Given the description of an element on the screen output the (x, y) to click on. 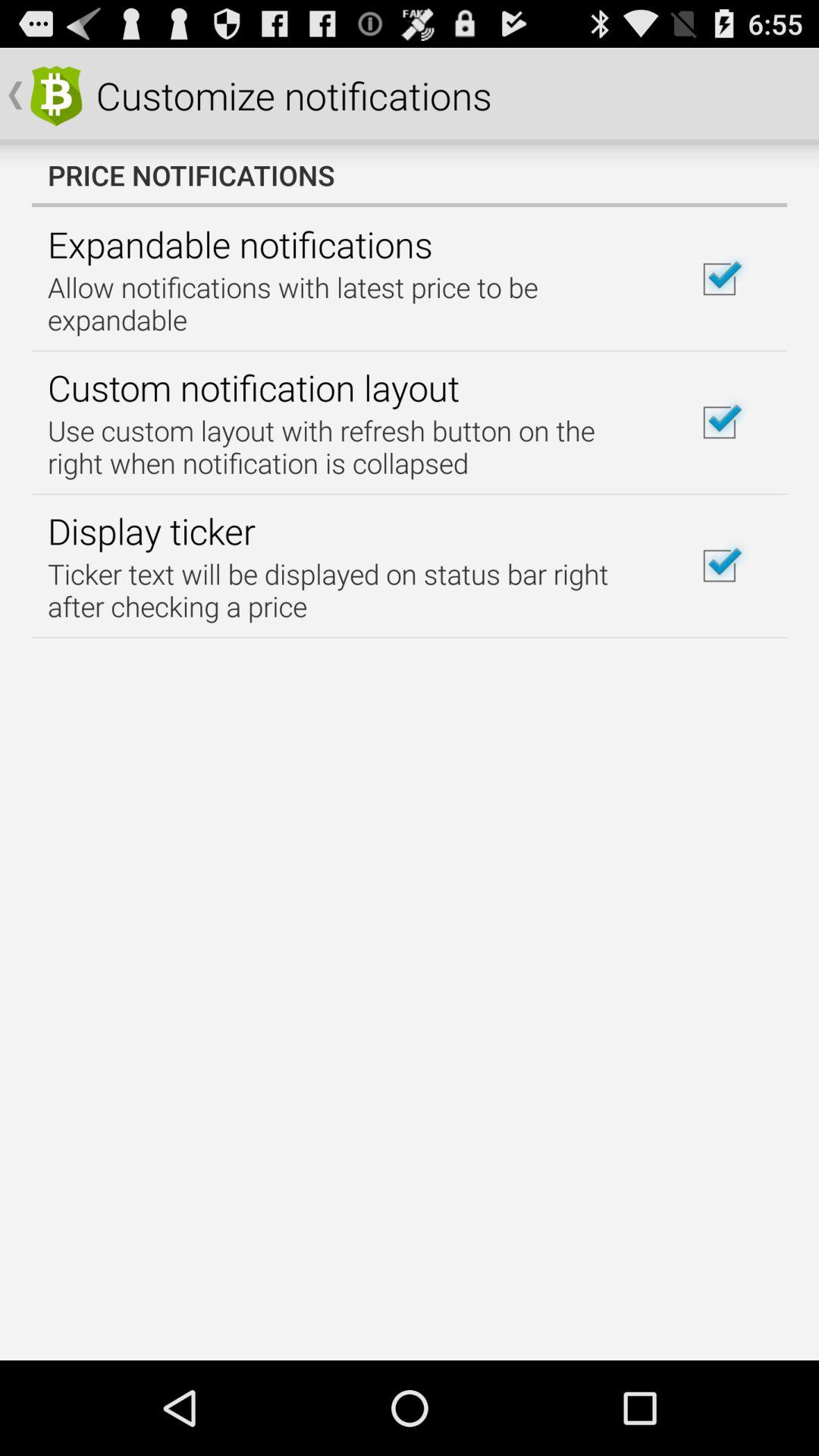
press ticker text will icon (351, 590)
